Given the description of an element on the screen output the (x, y) to click on. 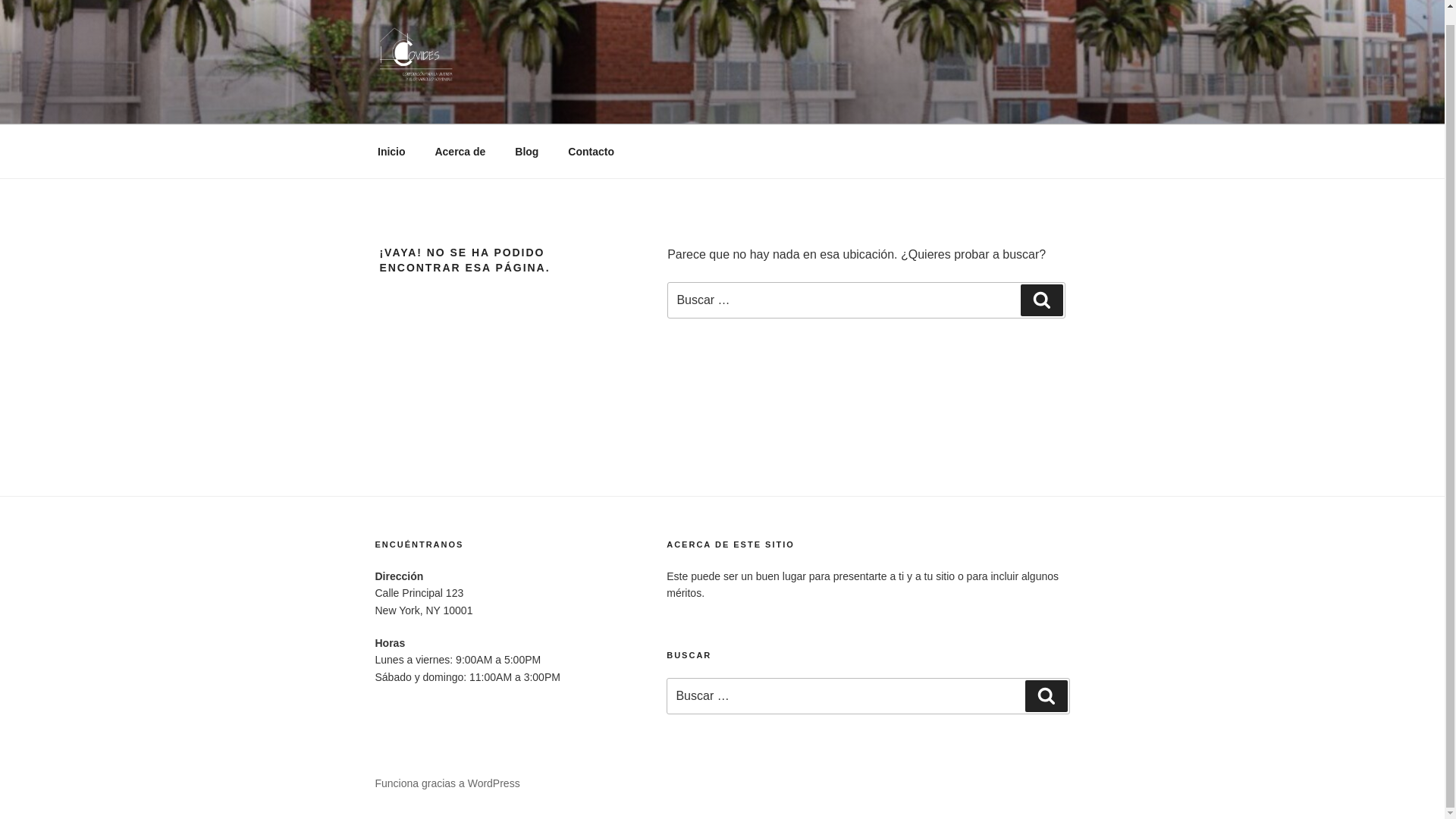
Funciona gracias a WordPress (446, 783)
COVIDES.ORG (486, 104)
Buscar (1041, 300)
Inicio (391, 150)
Buscar (1046, 695)
Acerca de (460, 150)
Blog (526, 150)
Contacto (590, 150)
